Given the description of an element on the screen output the (x, y) to click on. 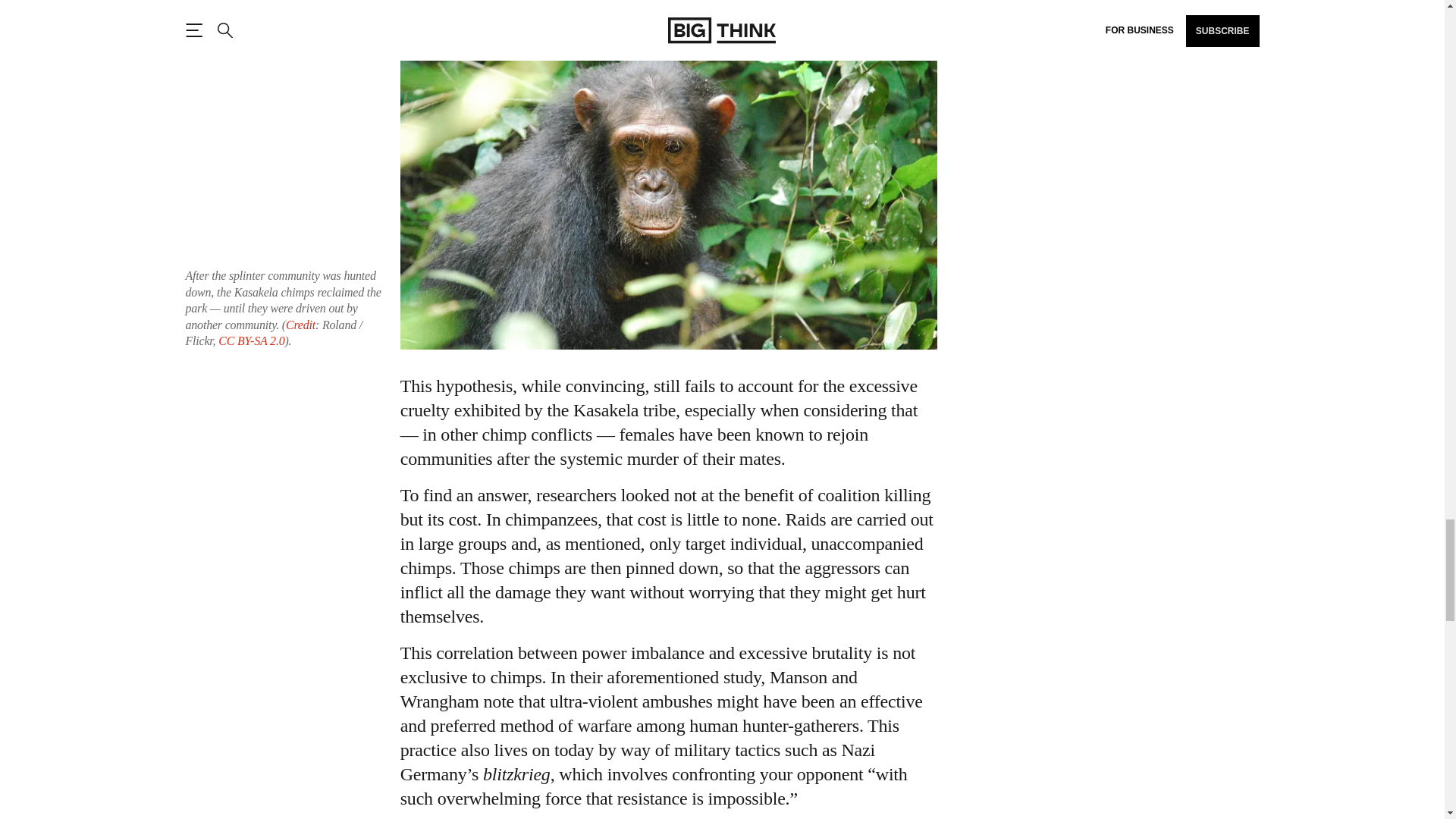
Subscribe (1117, 1)
